Given the description of an element on the screen output the (x, y) to click on. 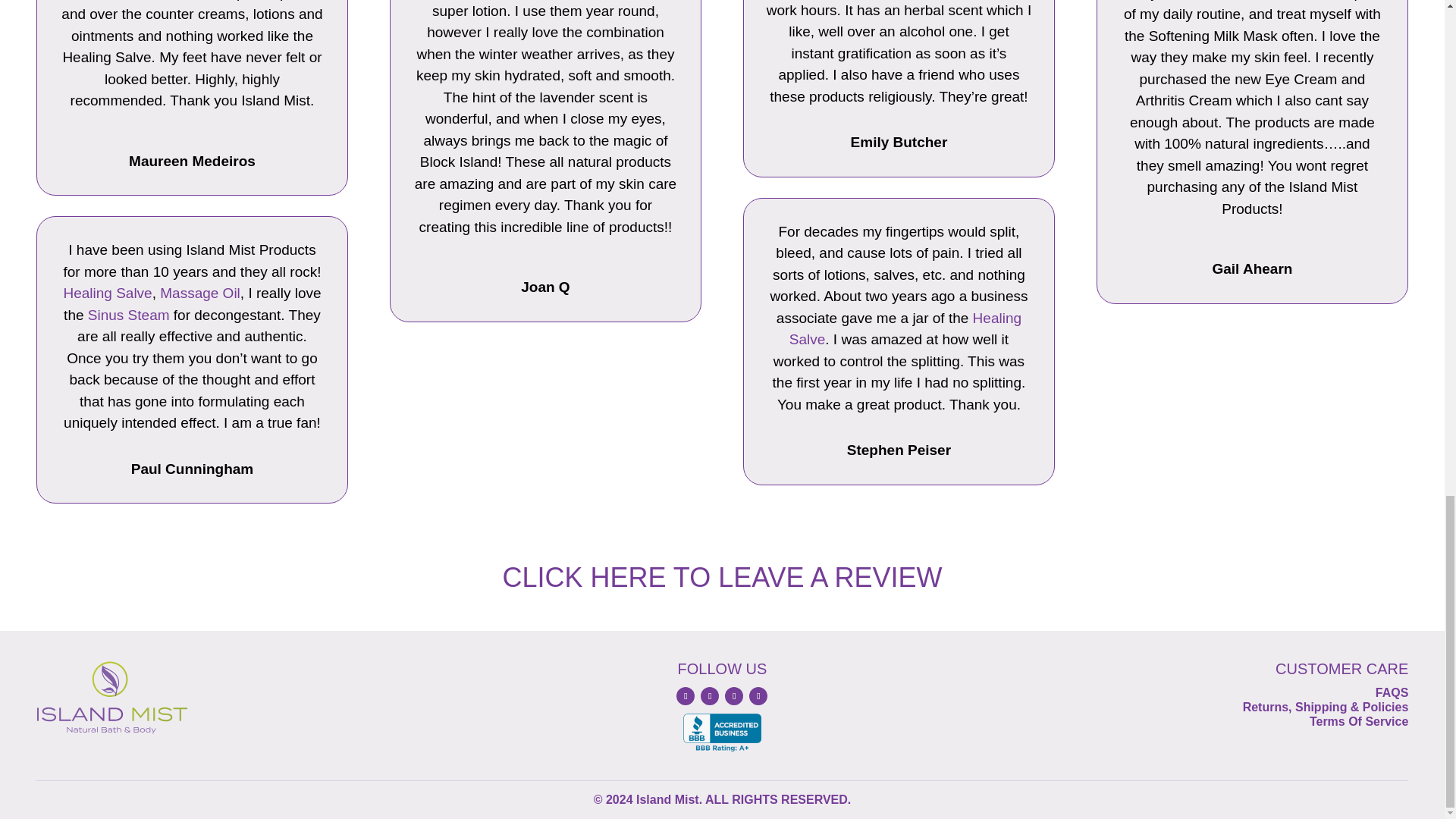
Island Mist logo (111, 697)
Follow on Instagram (709, 696)
Follow on LinkedIn (733, 696)
Follow on Youtube (758, 696)
bbb (721, 732)
Follow on Facebook (685, 696)
